Given the description of an element on the screen output the (x, y) to click on. 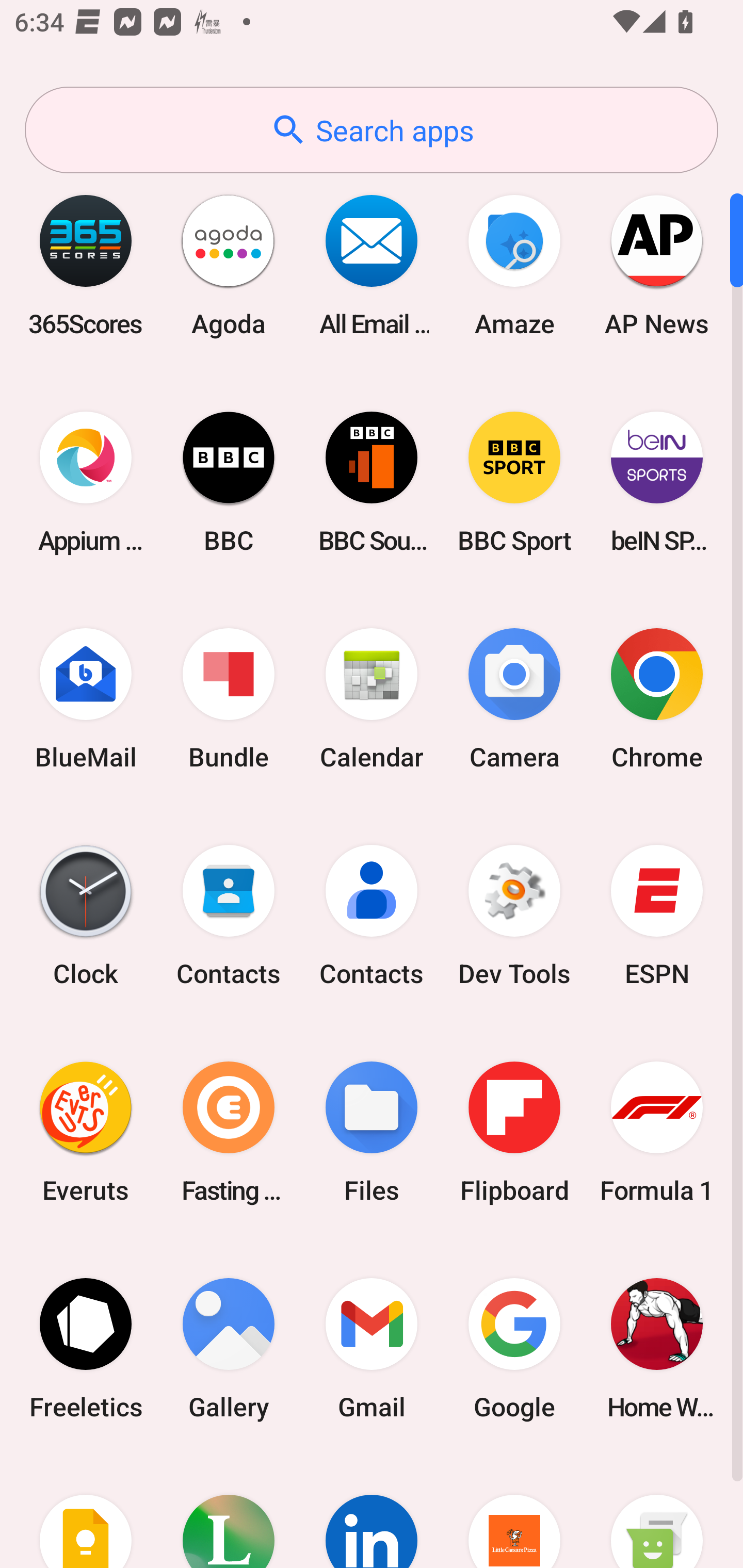
  Search apps (371, 130)
365Scores (85, 264)
Agoda (228, 264)
All Email Connect (371, 264)
Amaze (514, 264)
AP News (656, 264)
Appium Settings (85, 482)
BBC (228, 482)
BBC Sounds (371, 482)
BBC Sport (514, 482)
beIN SPORTS (656, 482)
BlueMail (85, 699)
Bundle (228, 699)
Calendar (371, 699)
Camera (514, 699)
Chrome (656, 699)
Clock (85, 915)
Contacts (228, 915)
Contacts (371, 915)
Dev Tools (514, 915)
ESPN (656, 915)
Everuts (85, 1131)
Fasting Coach (228, 1131)
Files (371, 1131)
Flipboard (514, 1131)
Formula 1 (656, 1131)
Freeletics (85, 1348)
Gallery (228, 1348)
Gmail (371, 1348)
Google (514, 1348)
Home Workout (656, 1348)
Keep Notes (85, 1512)
Lifesum (228, 1512)
LinkedIn (371, 1512)
Little Caesars Pizza (514, 1512)
Messaging (656, 1512)
